Given the description of an element on the screen output the (x, y) to click on. 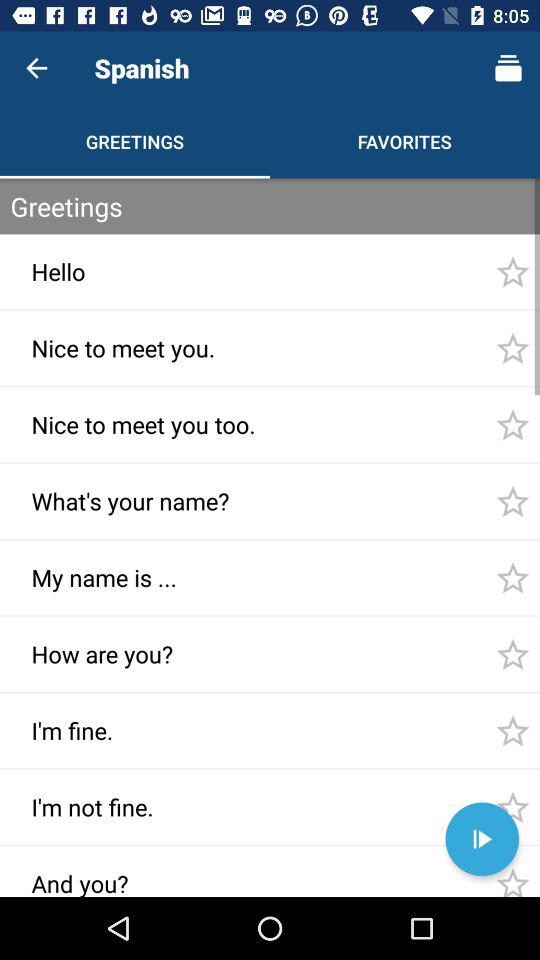
click on the star symbol beside im fine (512, 730)
